Given the description of an element on the screen output the (x, y) to click on. 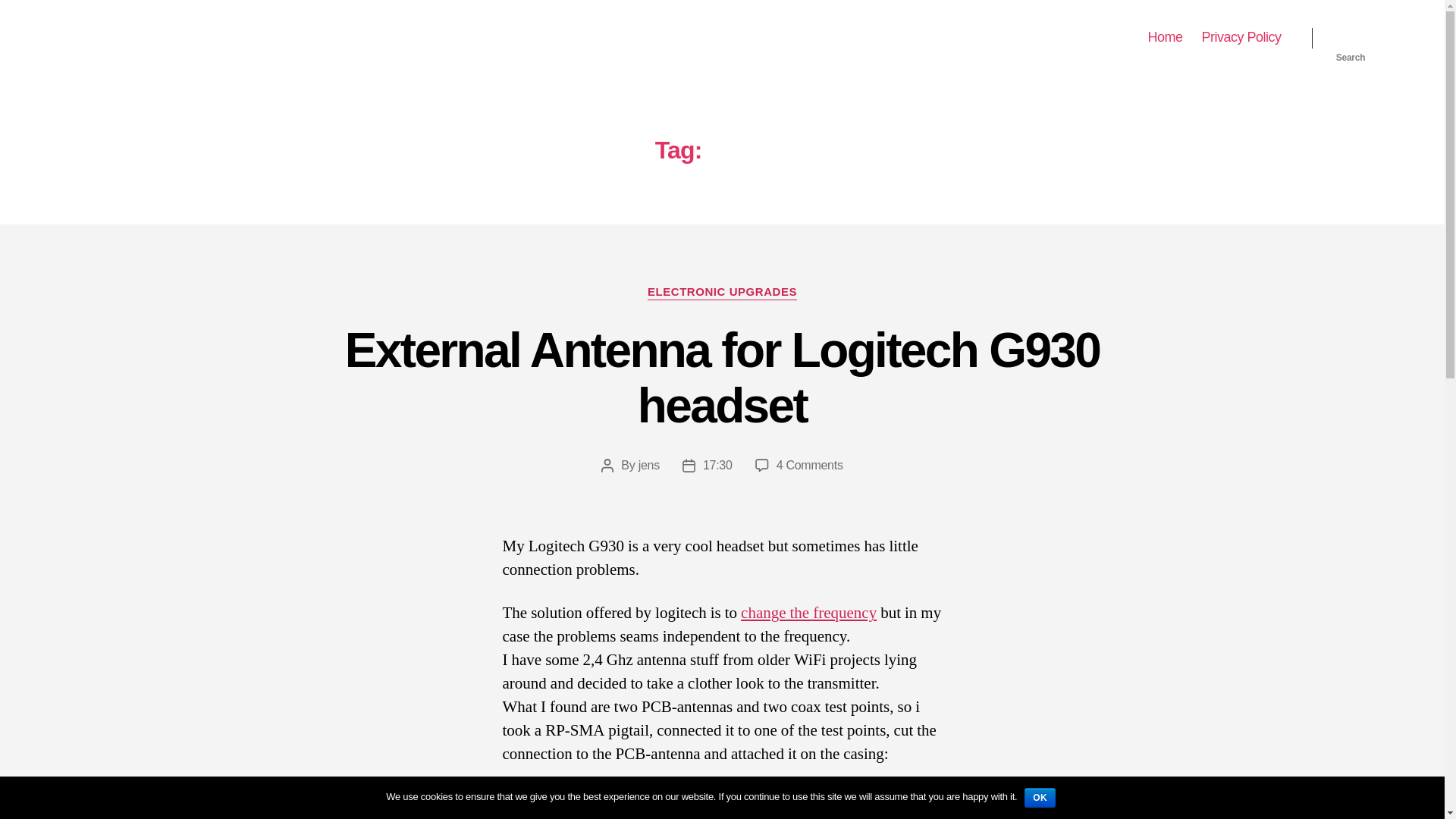
Home (1164, 37)
JToB's projects (146, 37)
change the frequency (808, 612)
External Antenna for Logitech G930 headset (809, 464)
ELECTRONIC UPGRADES (722, 377)
OK (721, 292)
jens (1040, 797)
Privacy Policy (649, 464)
Search (1241, 37)
17:30 (1350, 37)
